Given the description of an element on the screen output the (x, y) to click on. 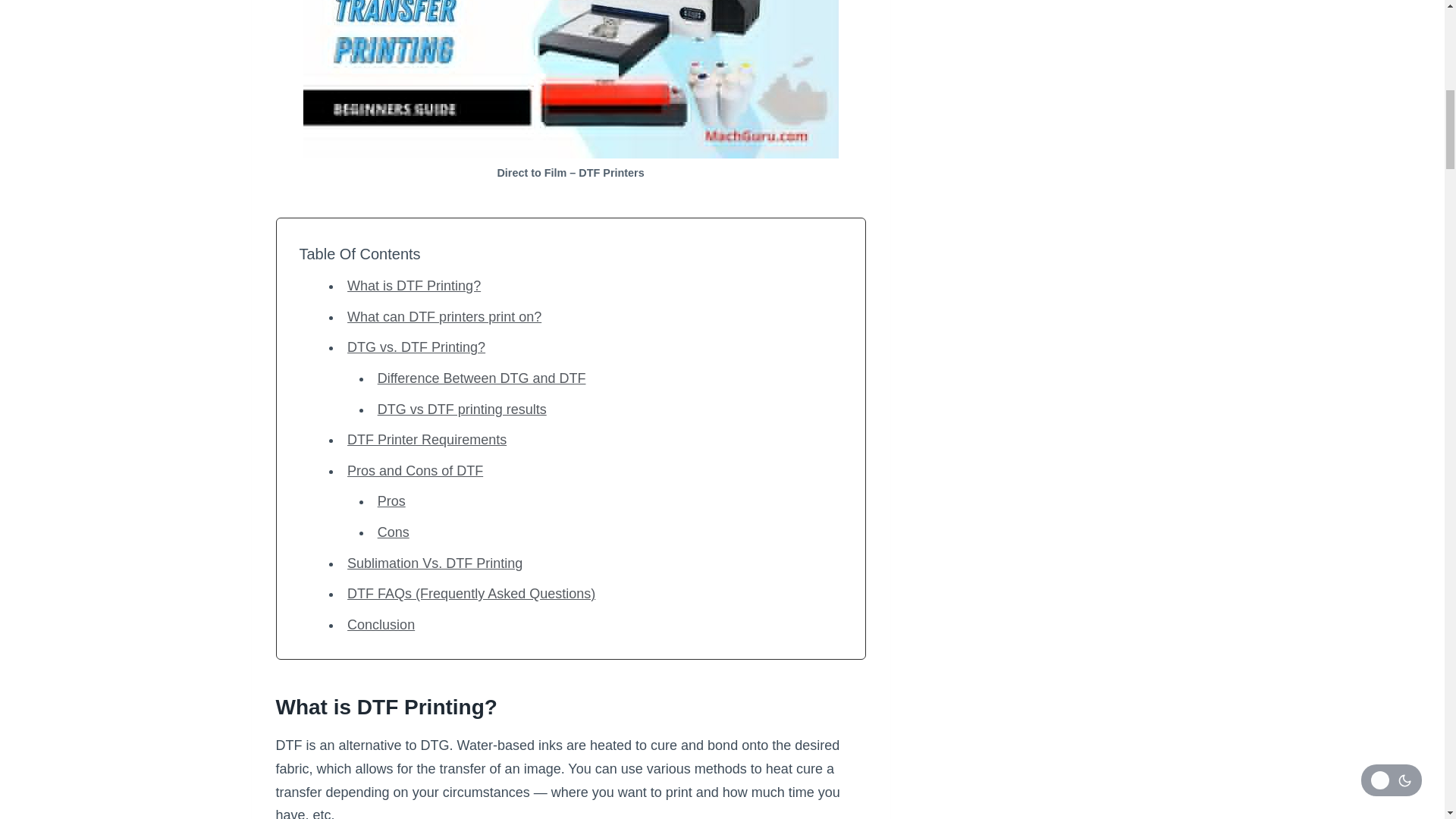
Pros (391, 500)
Conclusion (380, 624)
Sublimation Vs. DTF Printing (434, 563)
Cons (393, 531)
DTG vs. DTF Printing? (415, 346)
DTG vs DTF printing results (462, 409)
Pros and Cons of DTF (415, 470)
DTF Printer Requirements (426, 439)
What is DTF Printing? (413, 285)
Difference Between DTG and DTF (481, 378)
